Given the description of an element on the screen output the (x, y) to click on. 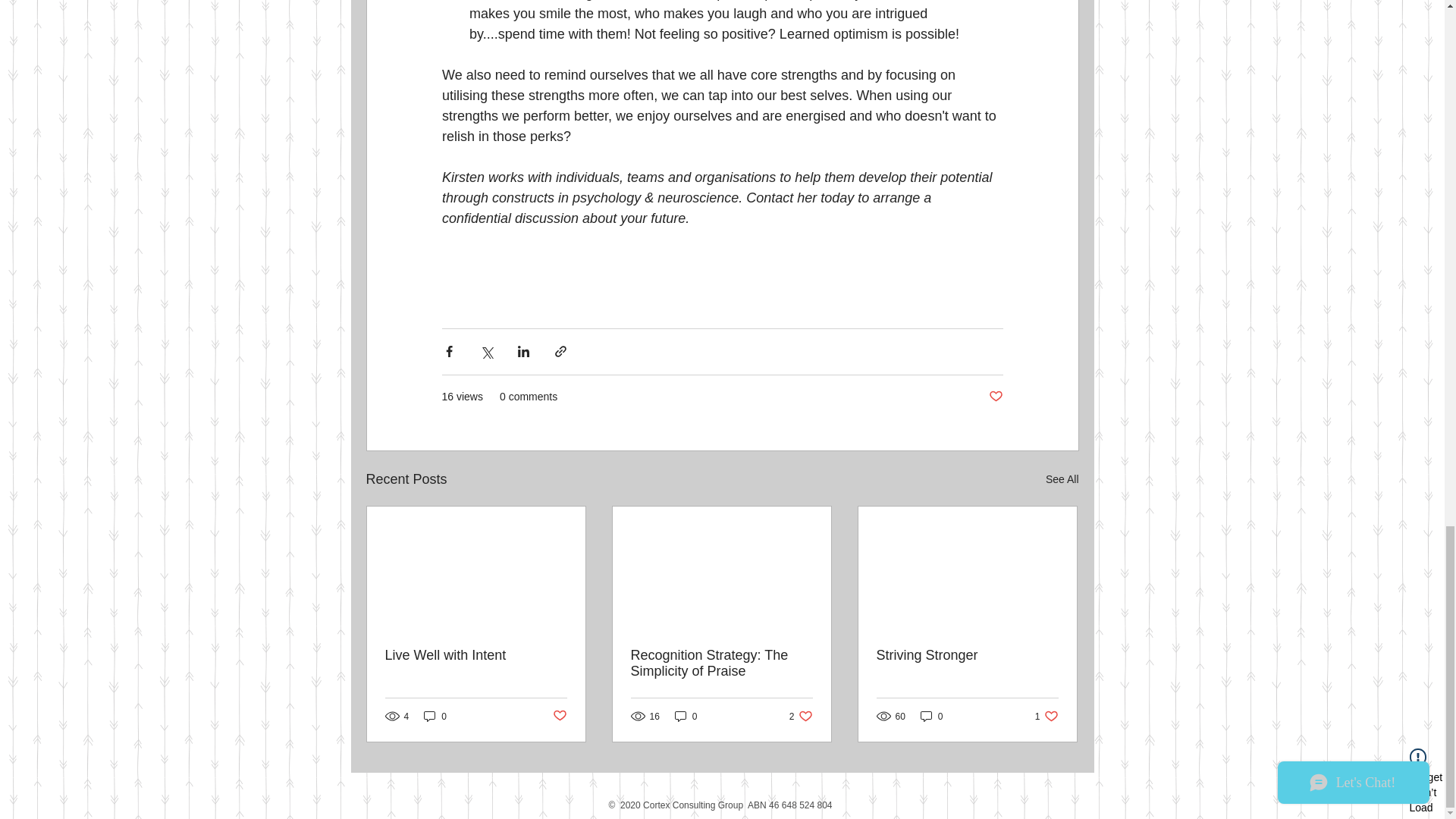
Striving Stronger (967, 655)
See All (1061, 479)
Post not marked as liked (1046, 716)
0 (800, 716)
Post not marked as liked (995, 396)
0 (931, 716)
Recognition Strategy: The Simplicity of Praise (558, 715)
Live Well with Intent (685, 716)
0 (721, 663)
